Given the description of an element on the screen output the (x, y) to click on. 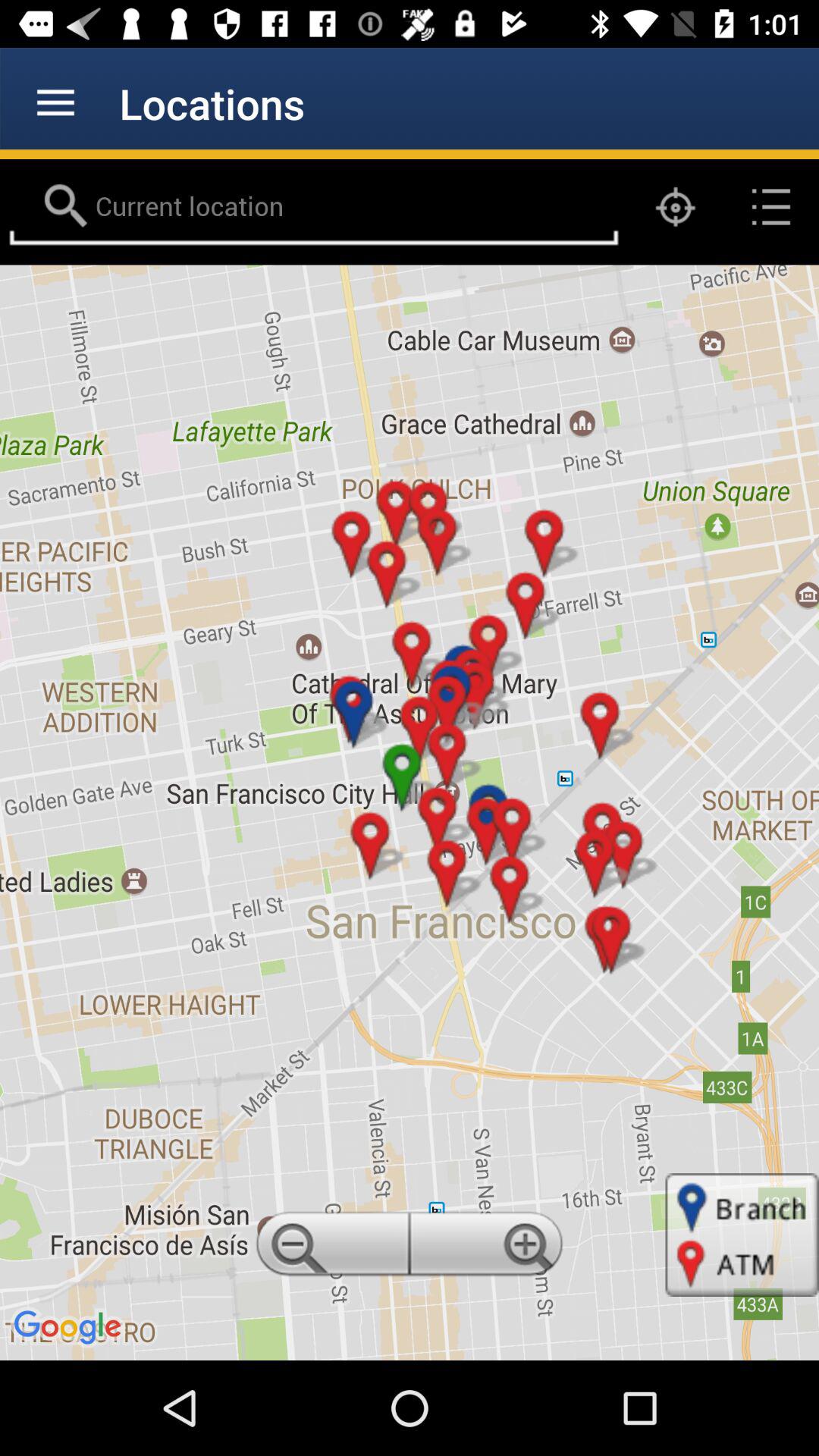
click app next to the locations (55, 103)
